Given the description of an element on the screen output the (x, y) to click on. 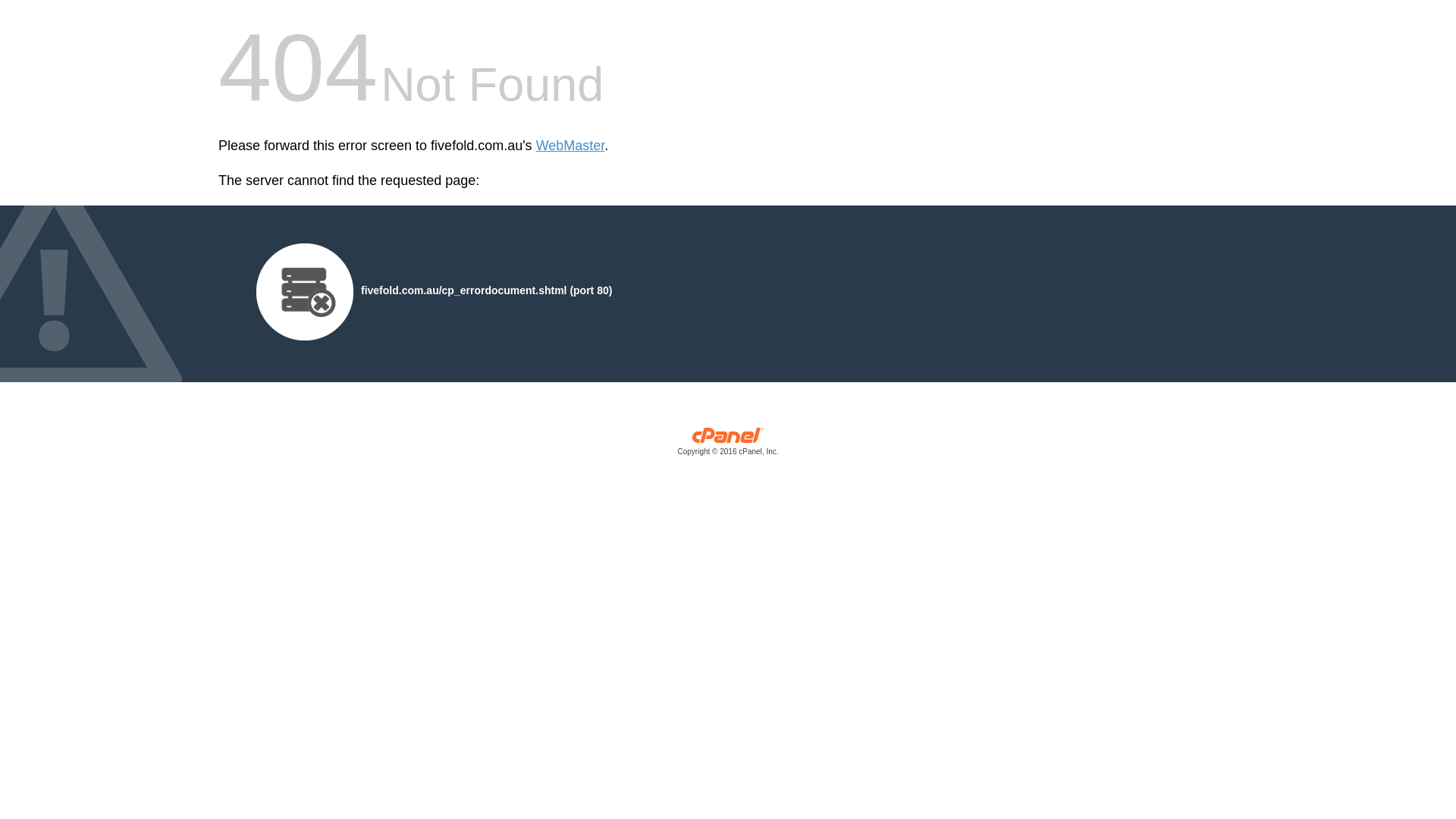
WebMaster Element type: text (570, 145)
